Given the description of an element on the screen output the (x, y) to click on. 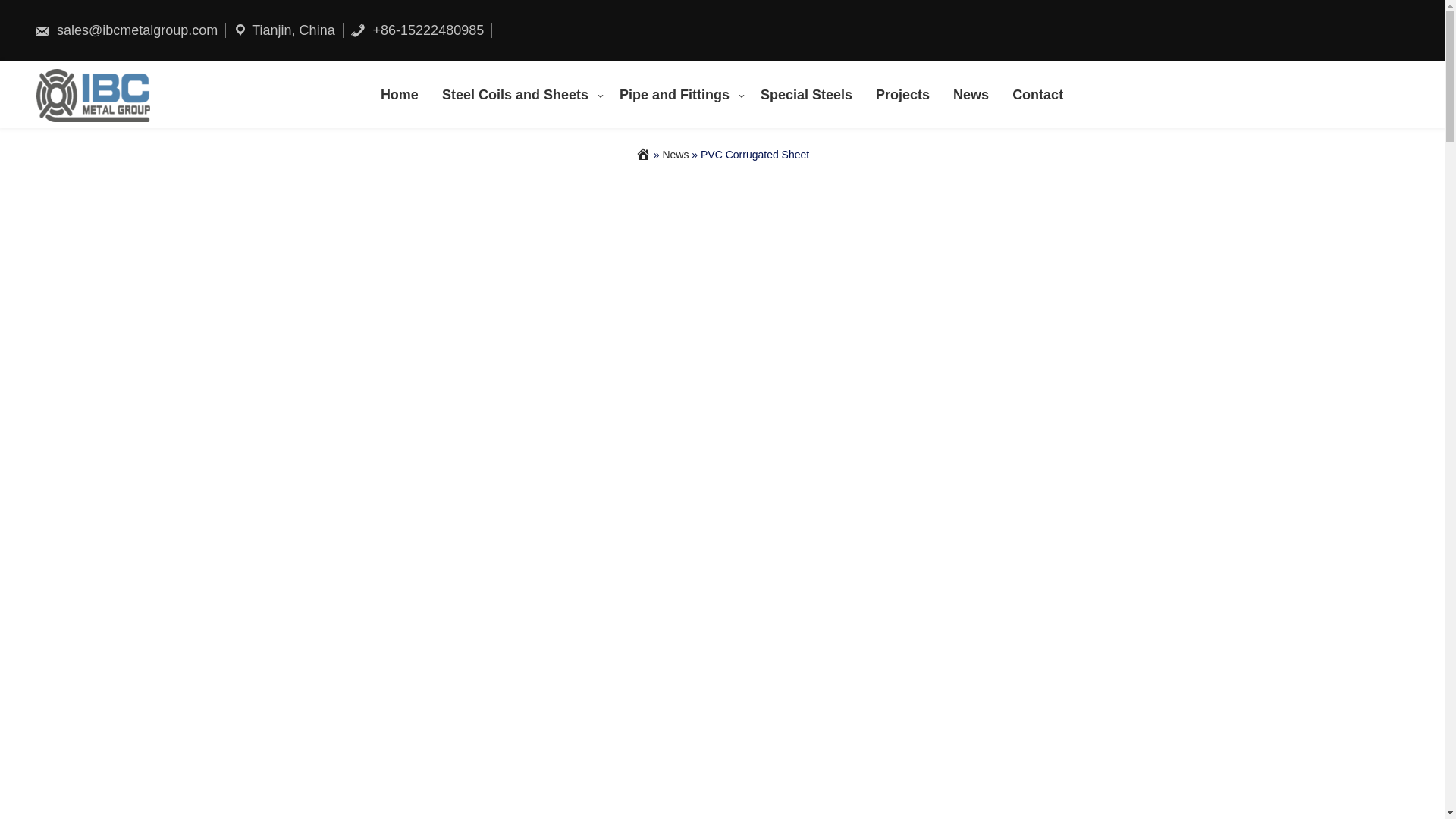
Steel Coils and Sheets (519, 94)
News (675, 154)
Home (399, 94)
News (971, 94)
Special Steels (806, 94)
Projects (903, 94)
Pipe and Fittings (678, 94)
Contact (1038, 94)
